Given the description of an element on the screen output the (x, y) to click on. 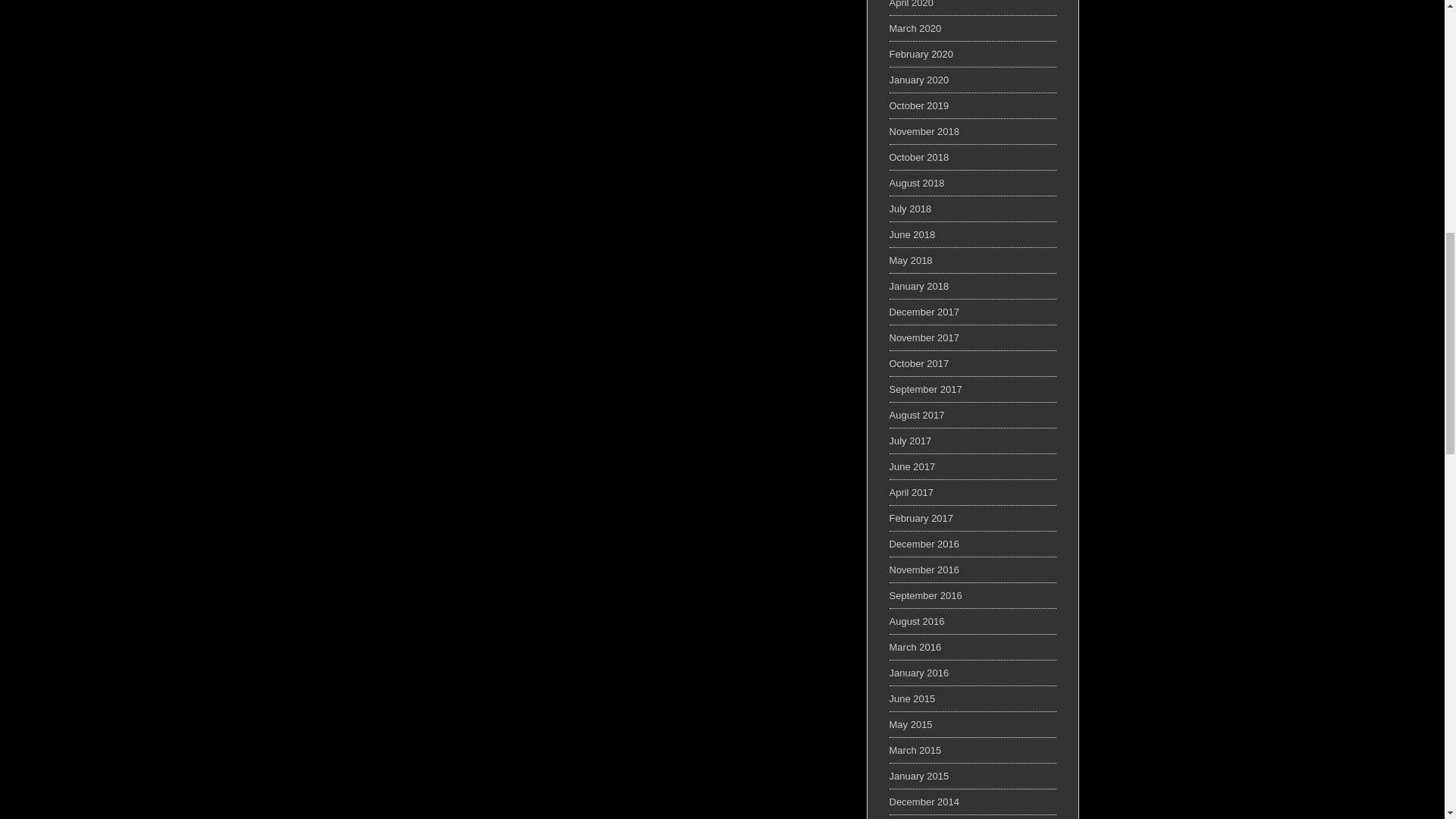
August 2018 (915, 183)
November 2018 (923, 131)
October 2017 (918, 363)
November 2017 (923, 337)
October 2019 (918, 105)
May 2018 (909, 260)
December 2017 (923, 311)
March 2020 (914, 28)
April 2020 (910, 4)
July 2018 (909, 208)
